Given the description of an element on the screen output the (x, y) to click on. 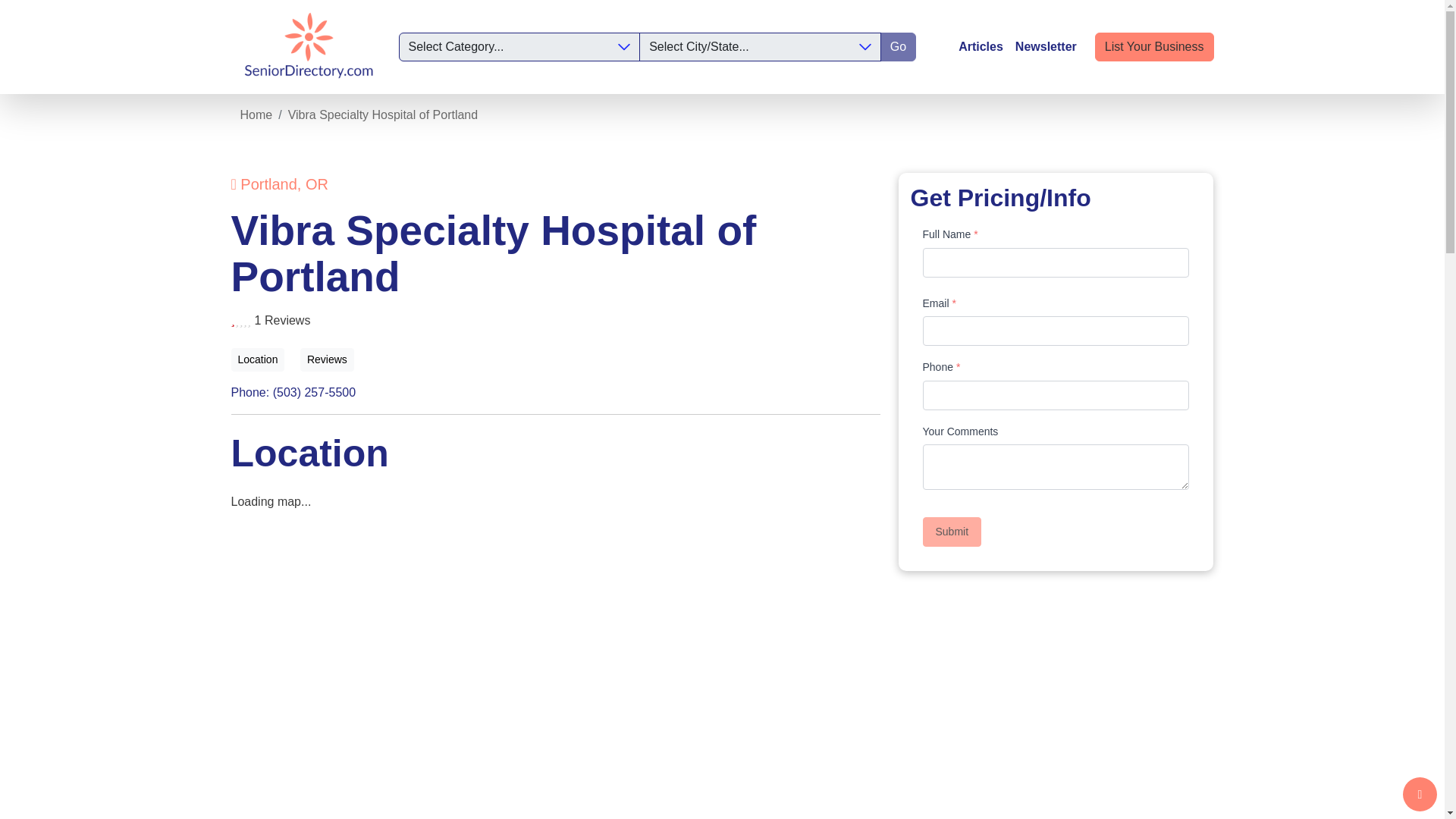
Vibra Specialty Hospital of Portland (383, 114)
Newsletter (1046, 46)
Submit (951, 531)
Home (256, 114)
Articles (980, 46)
Go (897, 46)
Reviews (326, 359)
Location (256, 359)
List Your Business (1154, 46)
